Given the description of an element on the screen output the (x, y) to click on. 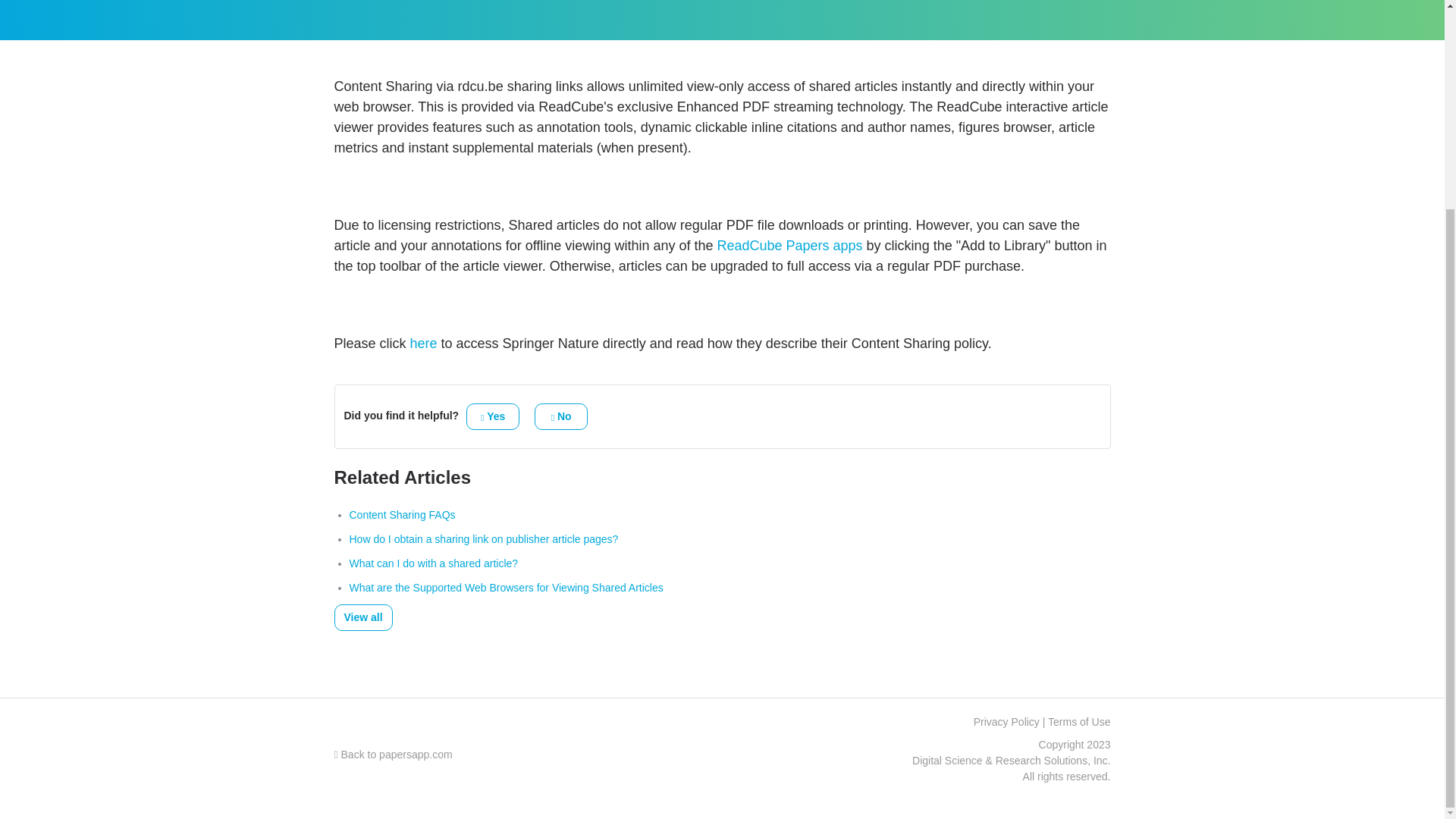
What can I do with a shared article? (433, 563)
View all (362, 617)
Content Sharing FAQs (401, 514)
ReadCube Papers apps (788, 245)
How do I obtain a sharing link on publisher article pages? (483, 539)
Back to papersapp.com (392, 754)
Privacy Policy (1006, 721)
here (424, 343)
Terms of Use (1078, 721)
